Given the description of an element on the screen output the (x, y) to click on. 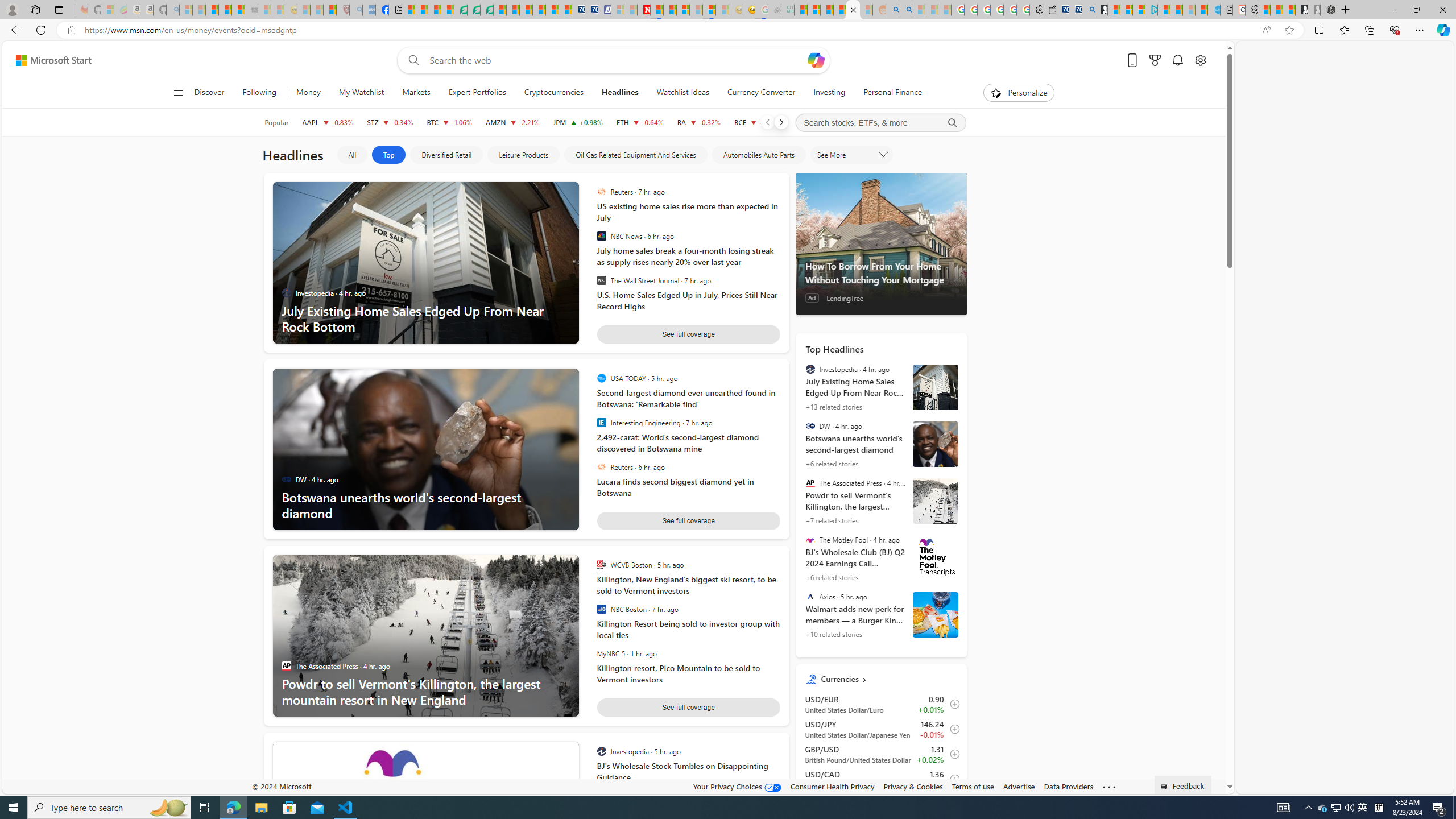
Watchlist Ideas (682, 92)
World - MSN (434, 9)
Cryptocurrencies (553, 92)
All (352, 154)
Botswana unearths world's second-largest diamond - DW (935, 444)
Privacy & Cookies (913, 786)
AAPL APPLE INC. decrease 224.53 -1.87 -0.83% (328, 122)
Trusted Community Engagement and Contributions | Guidelines (656, 9)
Robert H. Shmerling, MD - Harvard Health - Sleeping (342, 9)
Currencies (889, 679)
Investopedia (810, 369)
